Given the description of an element on the screen output the (x, y) to click on. 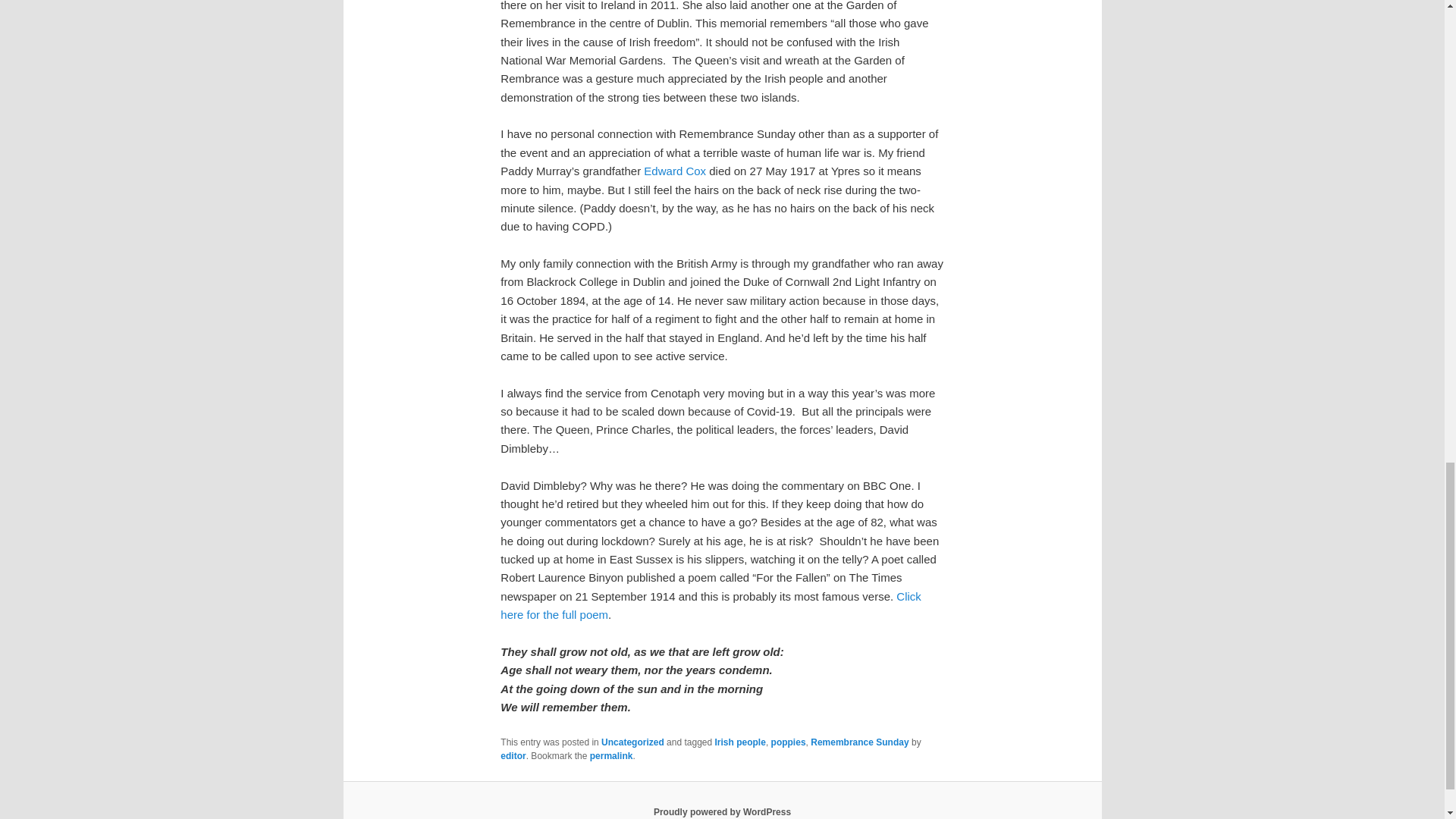
Remembrance Sunday (859, 742)
Edward Cox (674, 170)
permalink (611, 756)
Proudly powered by WordPress (721, 811)
Click here for the full poem (710, 604)
Irish people (739, 742)
poppies (788, 742)
Semantic Personal Publishing Platform (721, 811)
Uncategorized (632, 742)
editor (512, 756)
